Given the description of an element on the screen output the (x, y) to click on. 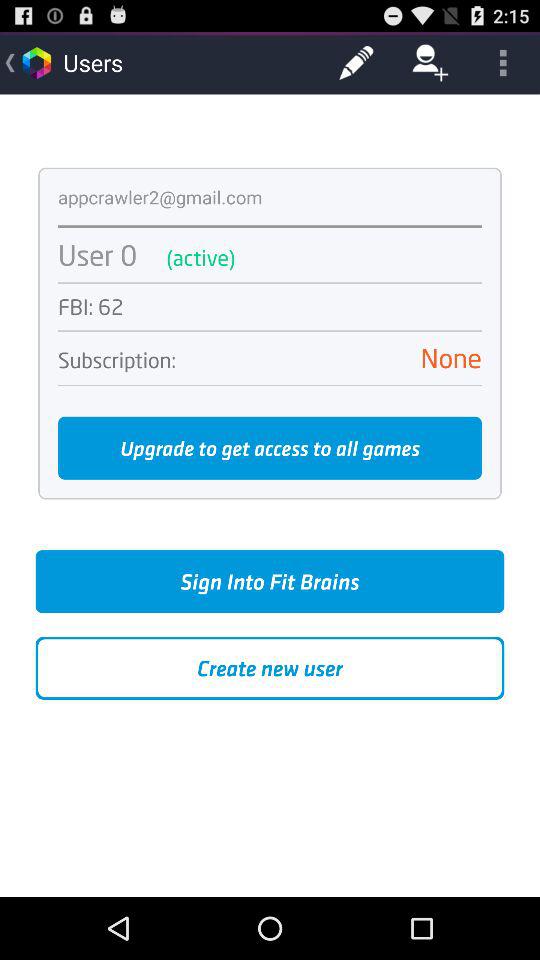
choose item to the right of user 0 item (333, 257)
